Given the description of an element on the screen output the (x, y) to click on. 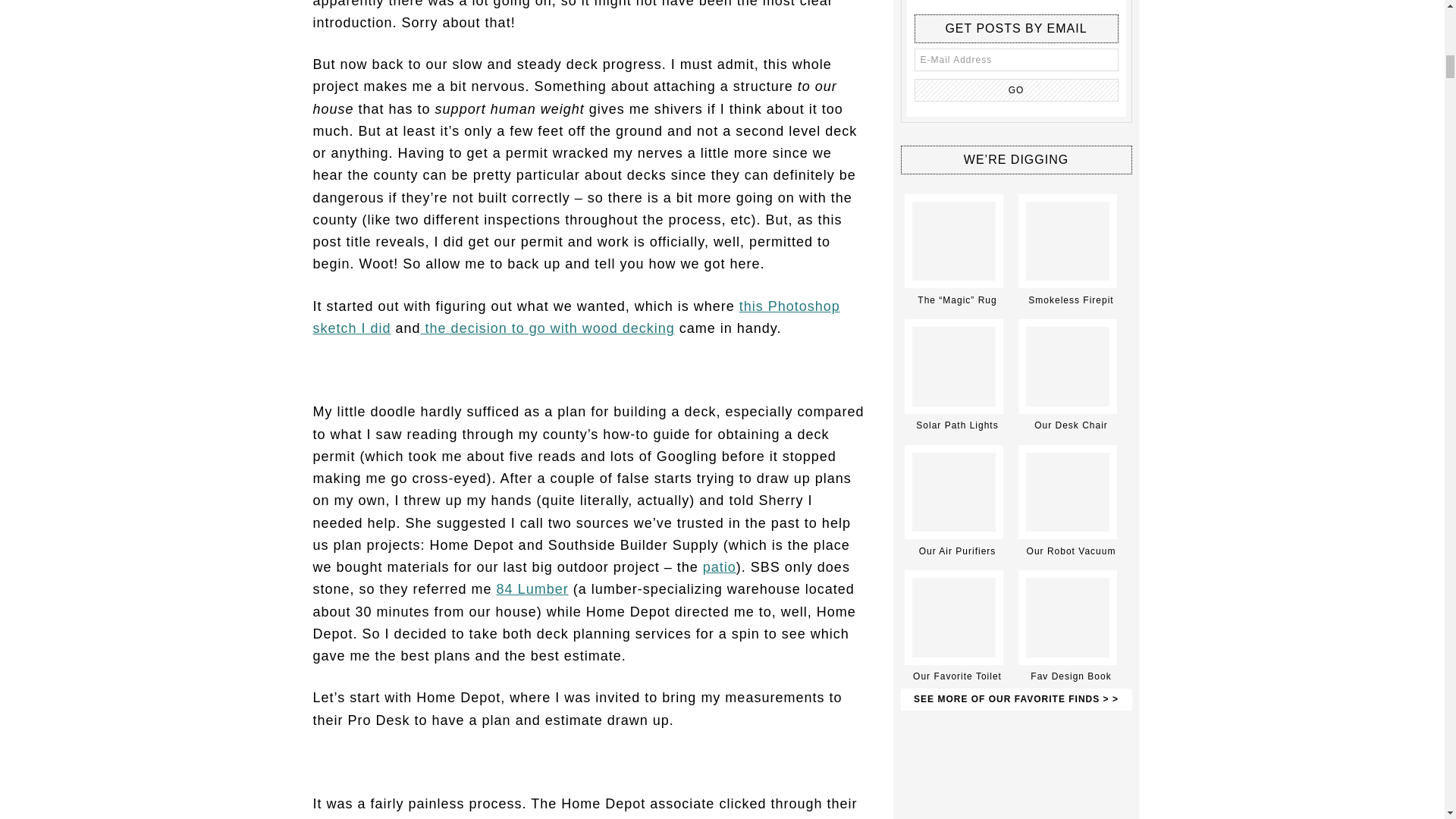
this Photoshop sketch I did (576, 316)
Go (1016, 89)
